Given the description of an element on the screen output the (x, y) to click on. 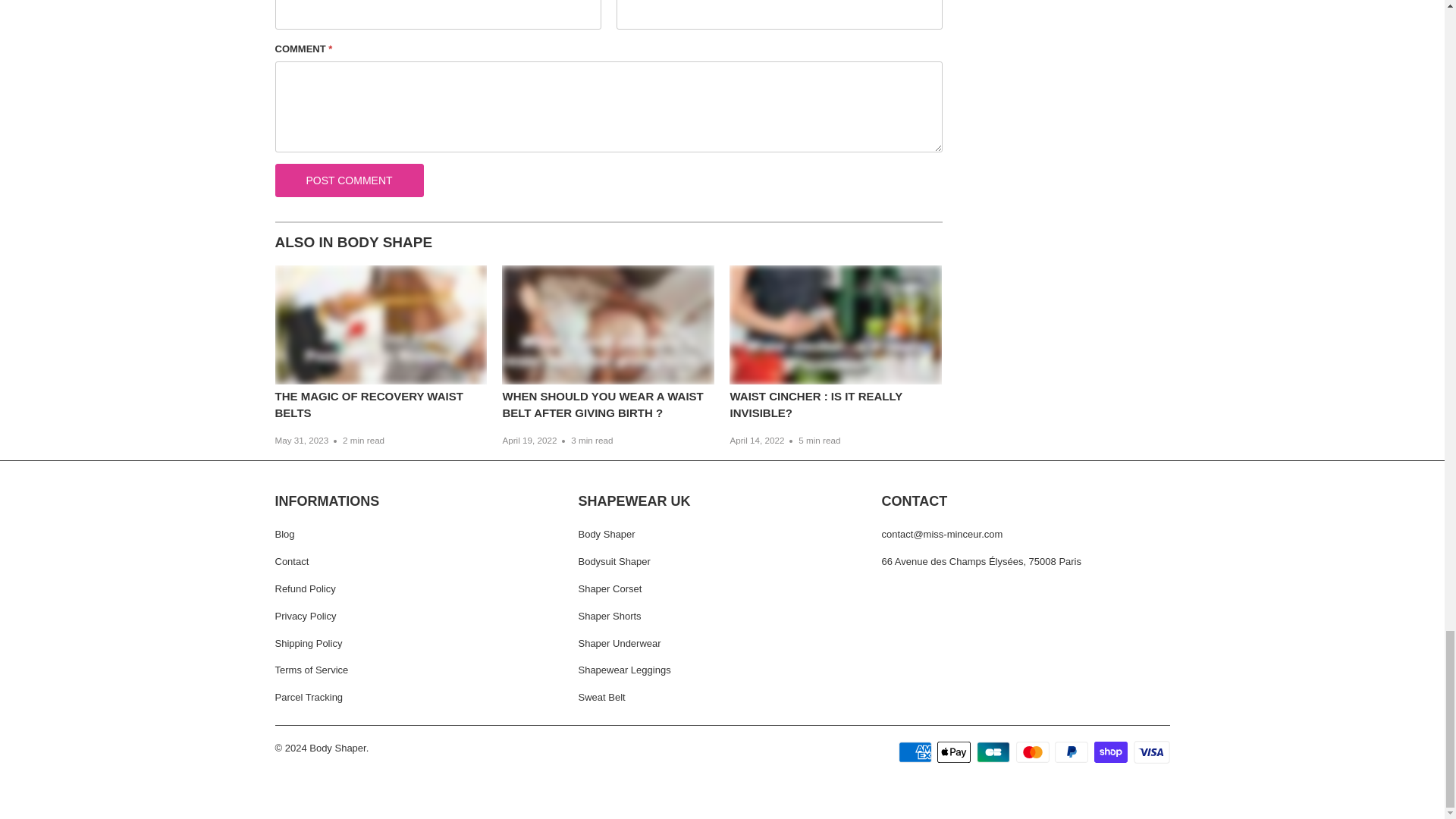
Mastercard (1034, 752)
American Express (916, 752)
Post comment (349, 180)
Cartes Bancaires (994, 752)
PayPal (1072, 752)
The Magic of Recovery Waist Belts (380, 324)
Shop Pay (1112, 752)
Visa (1150, 752)
Apple Pay (955, 752)
The Magic of Recovery Waist Belts (369, 404)
